Given the description of an element on the screen output the (x, y) to click on. 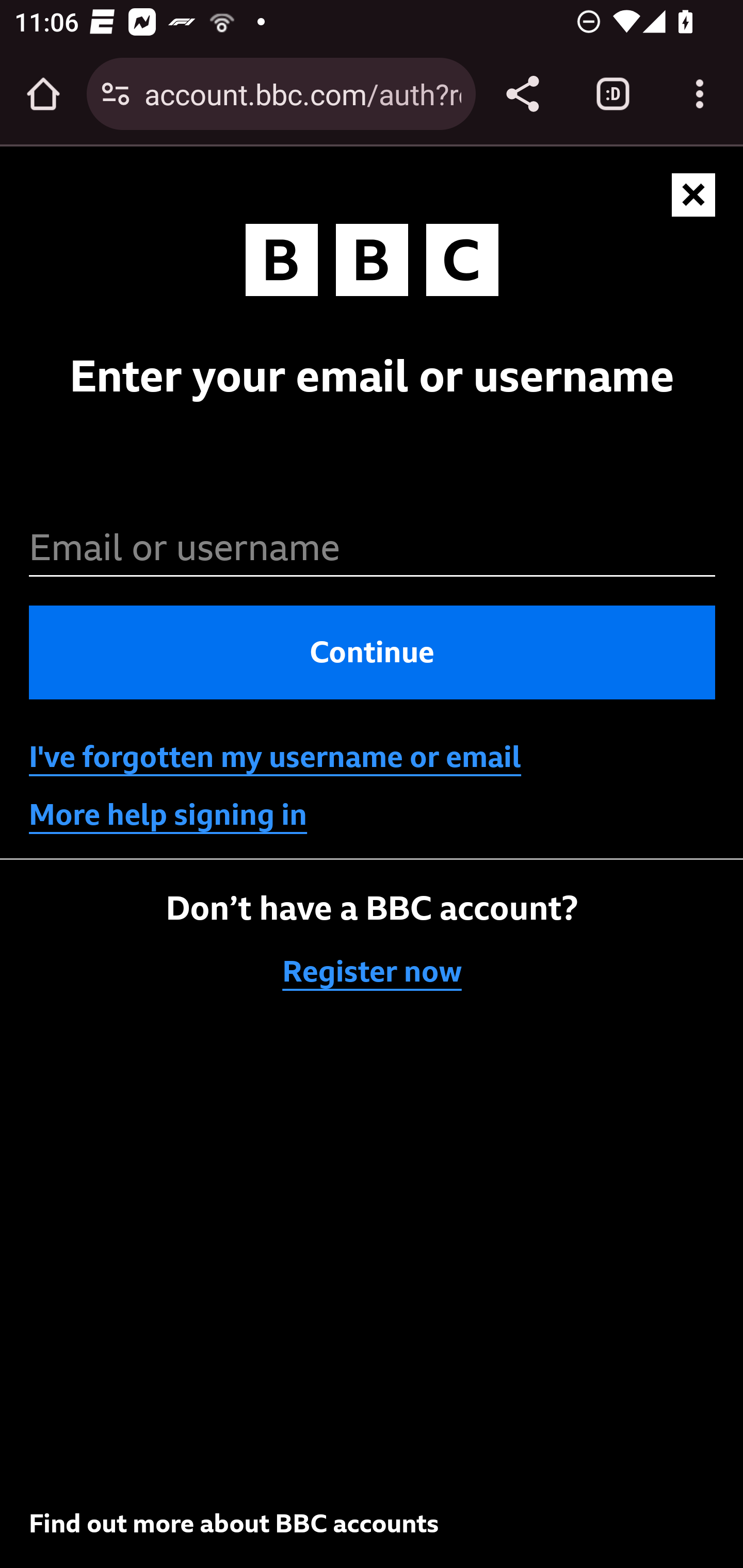
Open the home page (43, 93)
Connection is secure (115, 93)
Share (522, 93)
Switch or close tabs (612, 93)
Customize and control Google Chrome (699, 93)
Close and return to where you originally came from (694, 195)
Continue (372, 652)
I've forgotten my username or email (274, 757)
More help signing in (168, 815)
Register now (372, 971)
Find out more about BBC accounts (234, 1522)
